Given the description of an element on the screen output the (x, y) to click on. 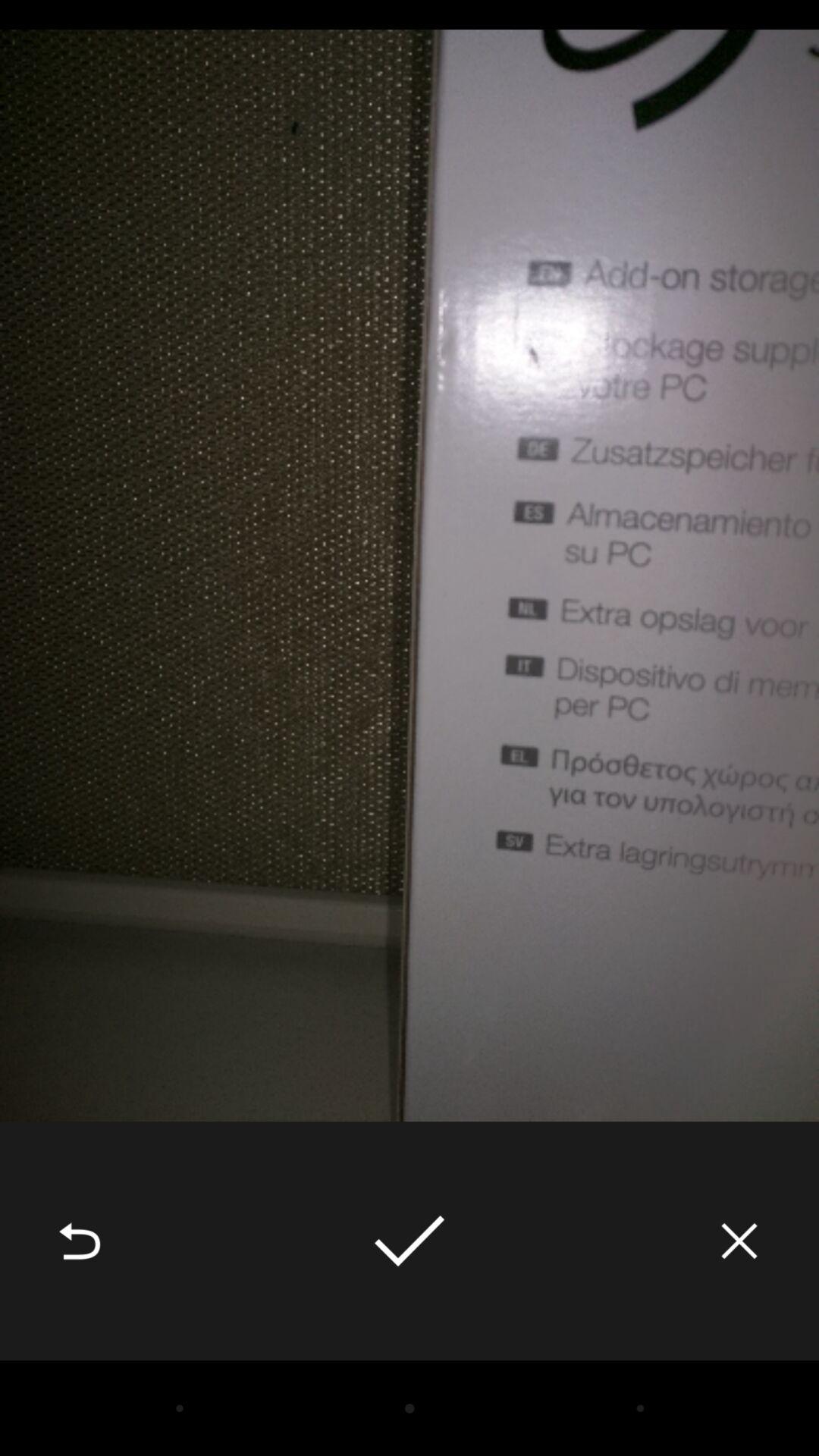
turn off item at the bottom right corner (739, 1240)
